Given the description of an element on the screen output the (x, y) to click on. 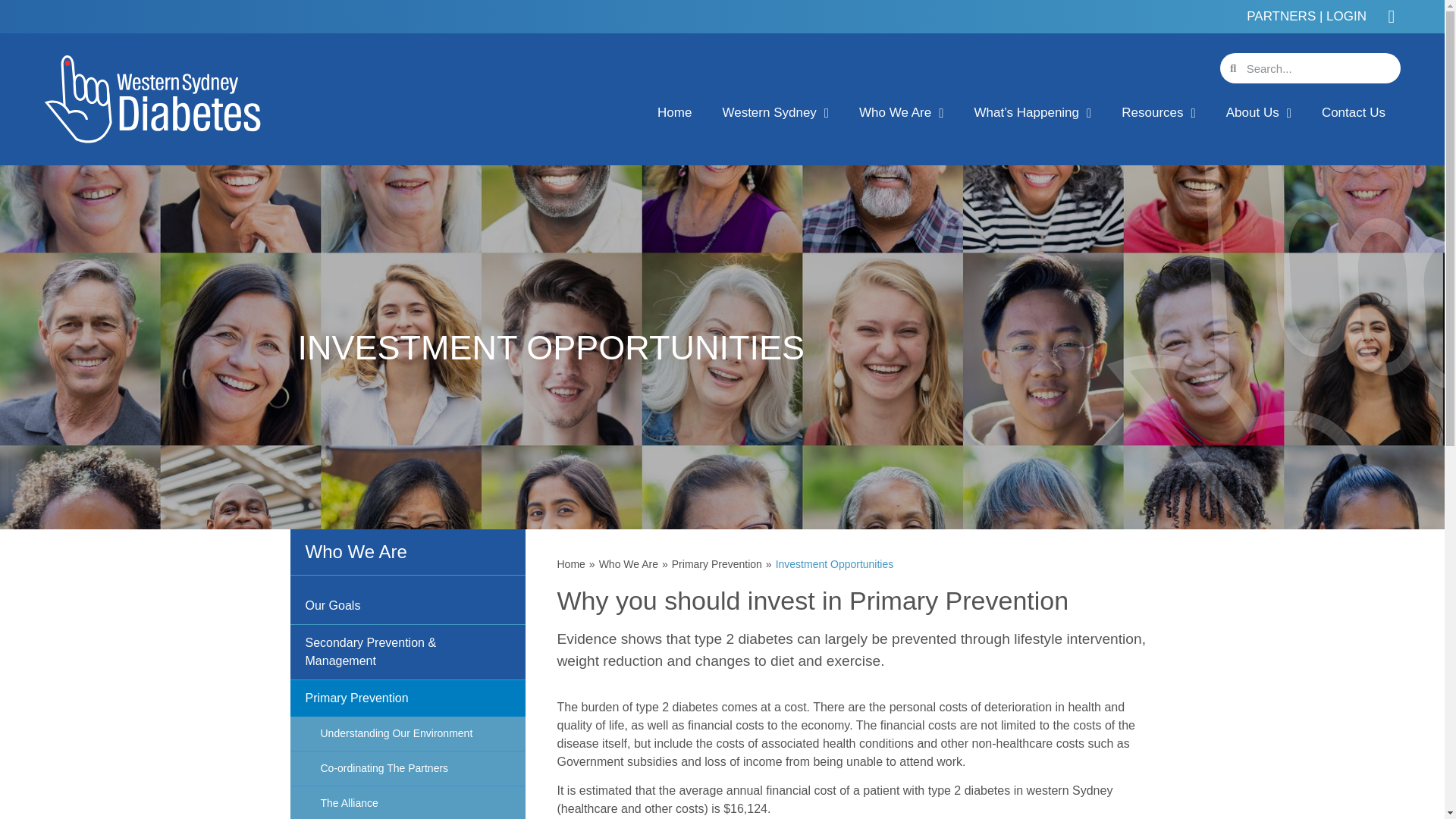
Western Sydney (775, 112)
Primary Prevention (716, 564)
LOGIN (1346, 16)
PARTNERS (1282, 16)
Home (570, 564)
Who We Are (901, 112)
Who We Are (628, 564)
Home (674, 112)
